Given the description of an element on the screen output the (x, y) to click on. 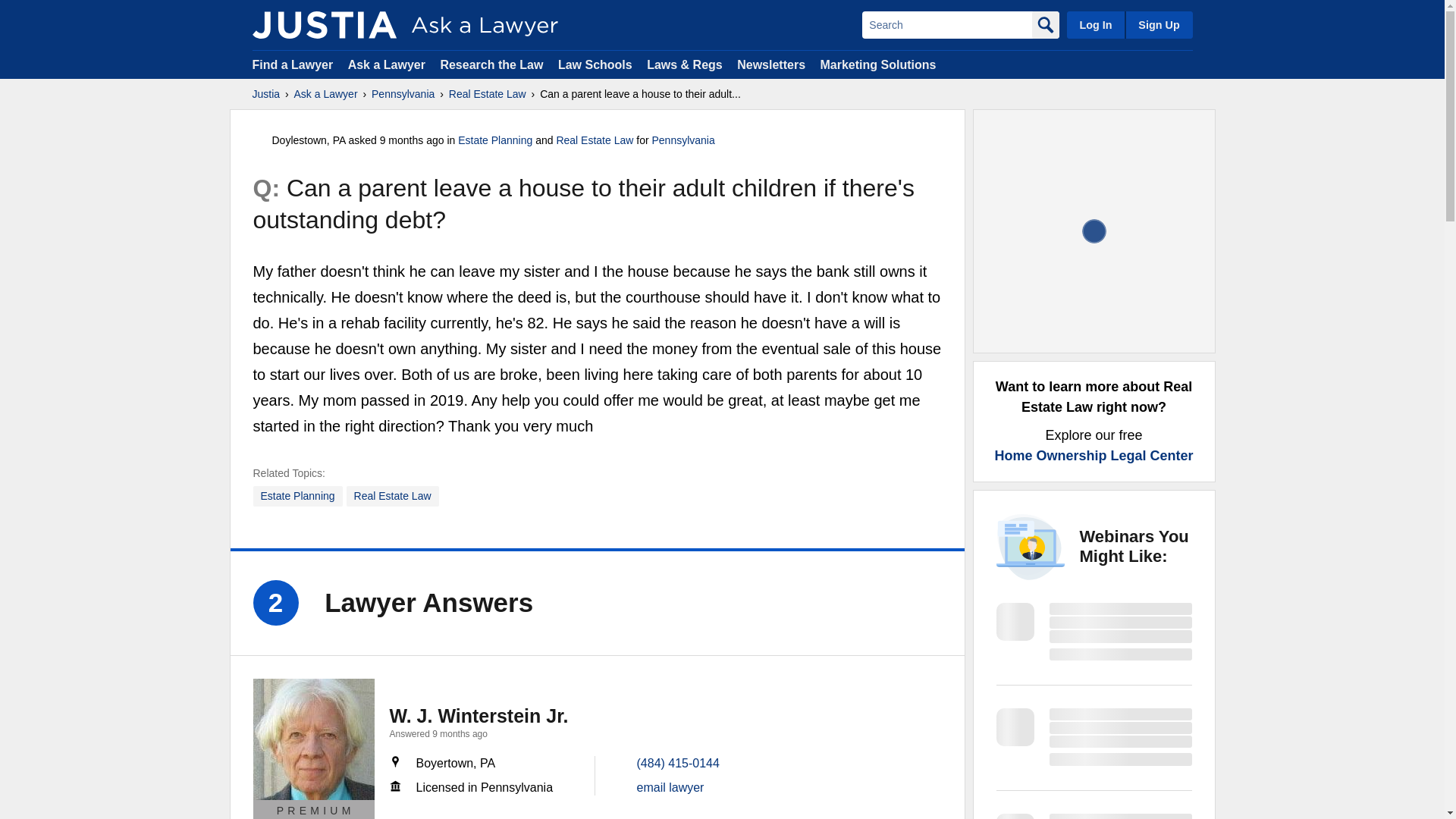
Estate Planning (495, 140)
2023-10-18T20:21:18-07:00 (412, 140)
Pennsylvania (682, 140)
Real Estate Law (594, 140)
Research the Law (491, 64)
Log In (1094, 24)
Ask a Lawyer (326, 93)
Law Schools (594, 64)
Marketing Solutions (877, 64)
Search (945, 24)
Sign Up (1158, 24)
Pennsylvania (402, 93)
Real Estate Law (392, 496)
W. J. Winterstein Jr. (479, 715)
Real Estate Law (486, 93)
